Given the description of an element on the screen output the (x, y) to click on. 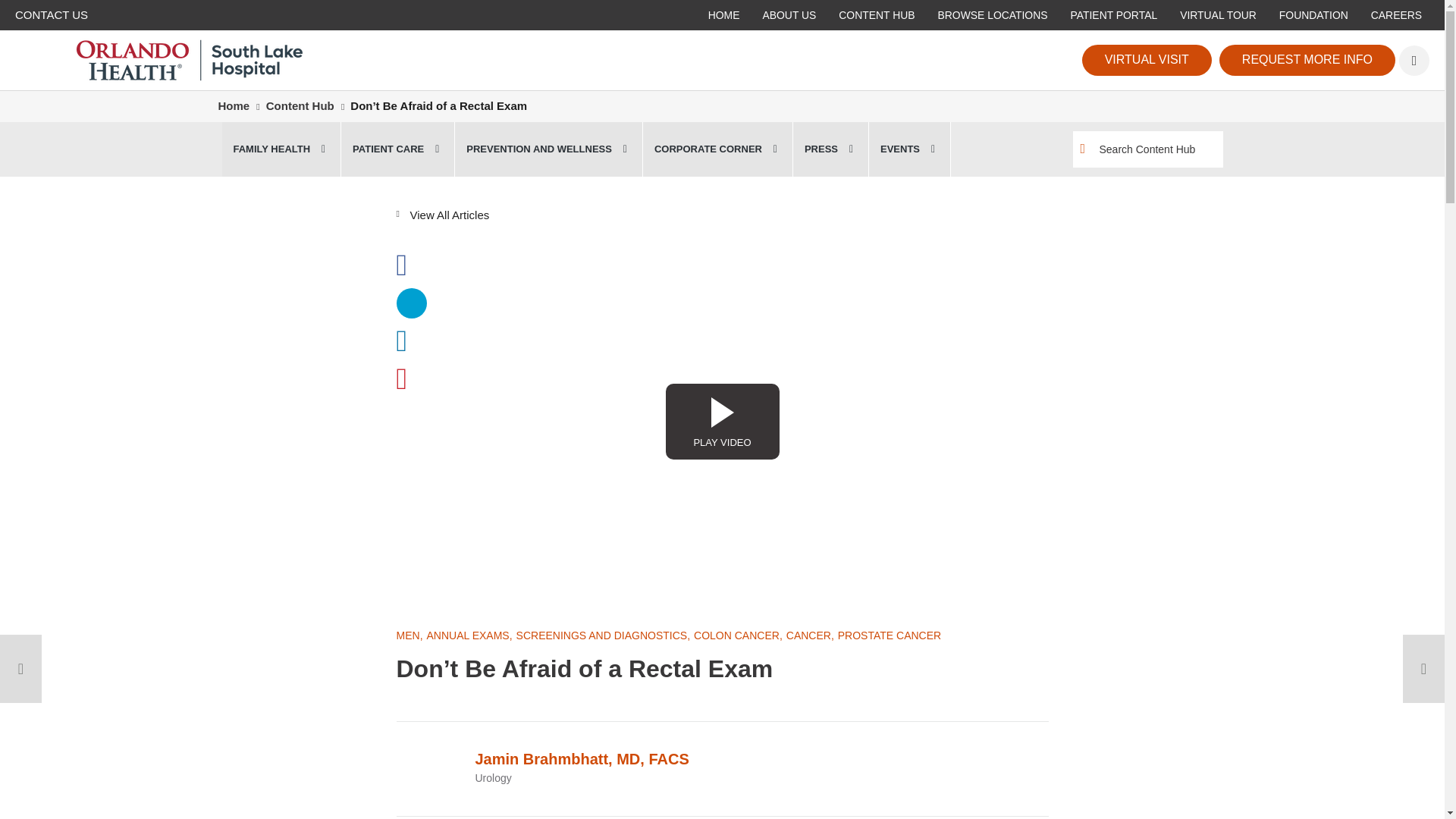
CONTENT HUB (876, 15)
Home (234, 105)
BROWSE LOCATIONS (992, 15)
REQUEST MORE INFO (1307, 60)
Request More Info (1307, 60)
VIRTUAL TOUR (1217, 15)
Content Hub (300, 105)
PATIENT PORTAL (1114, 15)
Pinterest (411, 378)
HOME (724, 15)
